Given the description of an element on the screen output the (x, y) to click on. 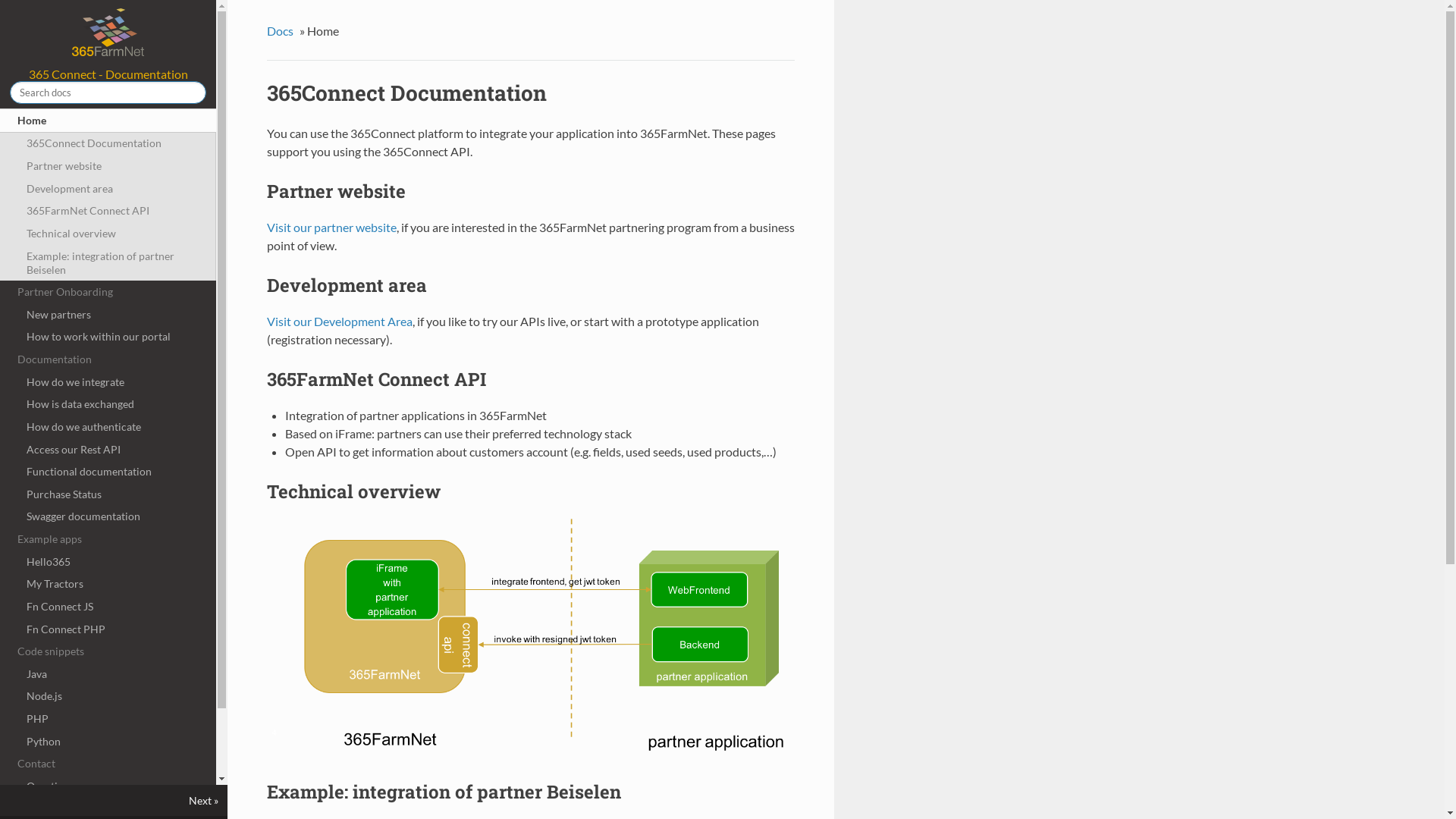
My Tractors Element type: text (108, 583)
Questions Element type: text (108, 786)
Swagger documentation Element type: text (108, 516)
Purchase Status Element type: text (108, 494)
Example: integration of partner Beiselen Element type: text (108, 262)
How do we authenticate Element type: text (108, 426)
Type search term here Element type: hover (107, 92)
Development area Element type: text (108, 188)
Technical overview Element type: text (108, 233)
Access our Rest API Element type: text (108, 449)
Fn Connect PHP Element type: text (108, 629)
Node.js Element type: text (108, 696)
PHP Element type: text (108, 718)
Python Element type: text (108, 741)
Fn Connect JS Element type: text (108, 606)
How to work within our portal Element type: text (108, 337)
New partners Element type: text (108, 314)
365FarmNet Connect API Element type: text (108, 210)
Functional documentation Element type: text (108, 471)
Visit our partner website Element type: text (331, 226)
Partner website Element type: text (108, 165)
Java Element type: text (108, 673)
Hello365 Element type: text (108, 561)
How do we integrate Element type: text (108, 381)
Docs Element type: text (281, 30)
Visit our Development Area Element type: text (339, 320)
Home Element type: text (108, 120)
365Connect Documentation Element type: text (108, 143)
How is data exchanged Element type: text (108, 403)
